Given the description of an element on the screen output the (x, y) to click on. 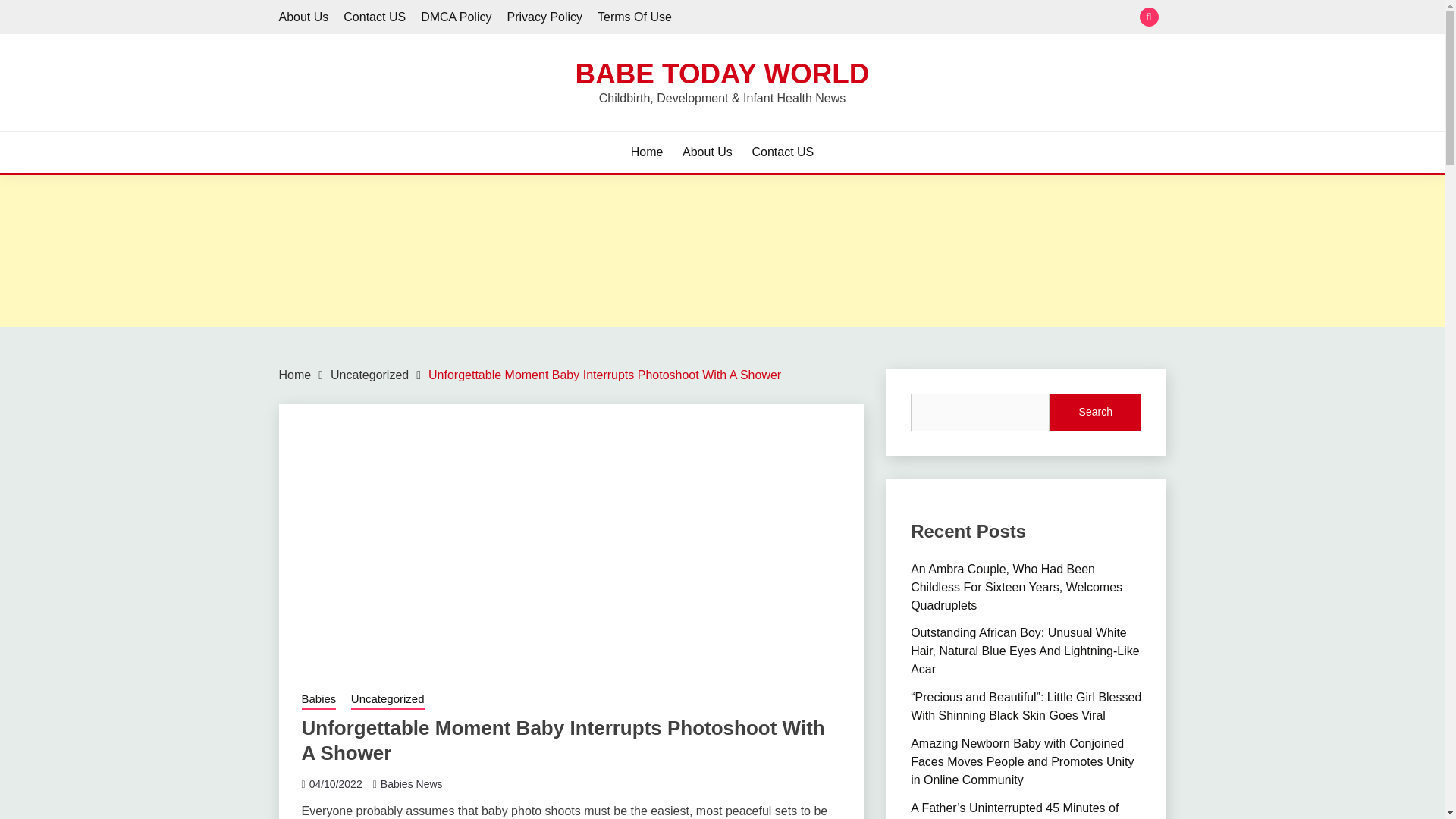
Search (832, 18)
Babies (318, 700)
DMCA Policy (456, 16)
BABE TODAY WORLD (722, 73)
About Us (304, 16)
Contact US (374, 16)
Uncategorized (387, 700)
Uncategorized (369, 374)
Babies News (411, 784)
Contact US (782, 152)
Home (646, 152)
Search (1095, 412)
About Us (707, 152)
Terms Of Use (633, 16)
